Given the description of an element on the screen output the (x, y) to click on. 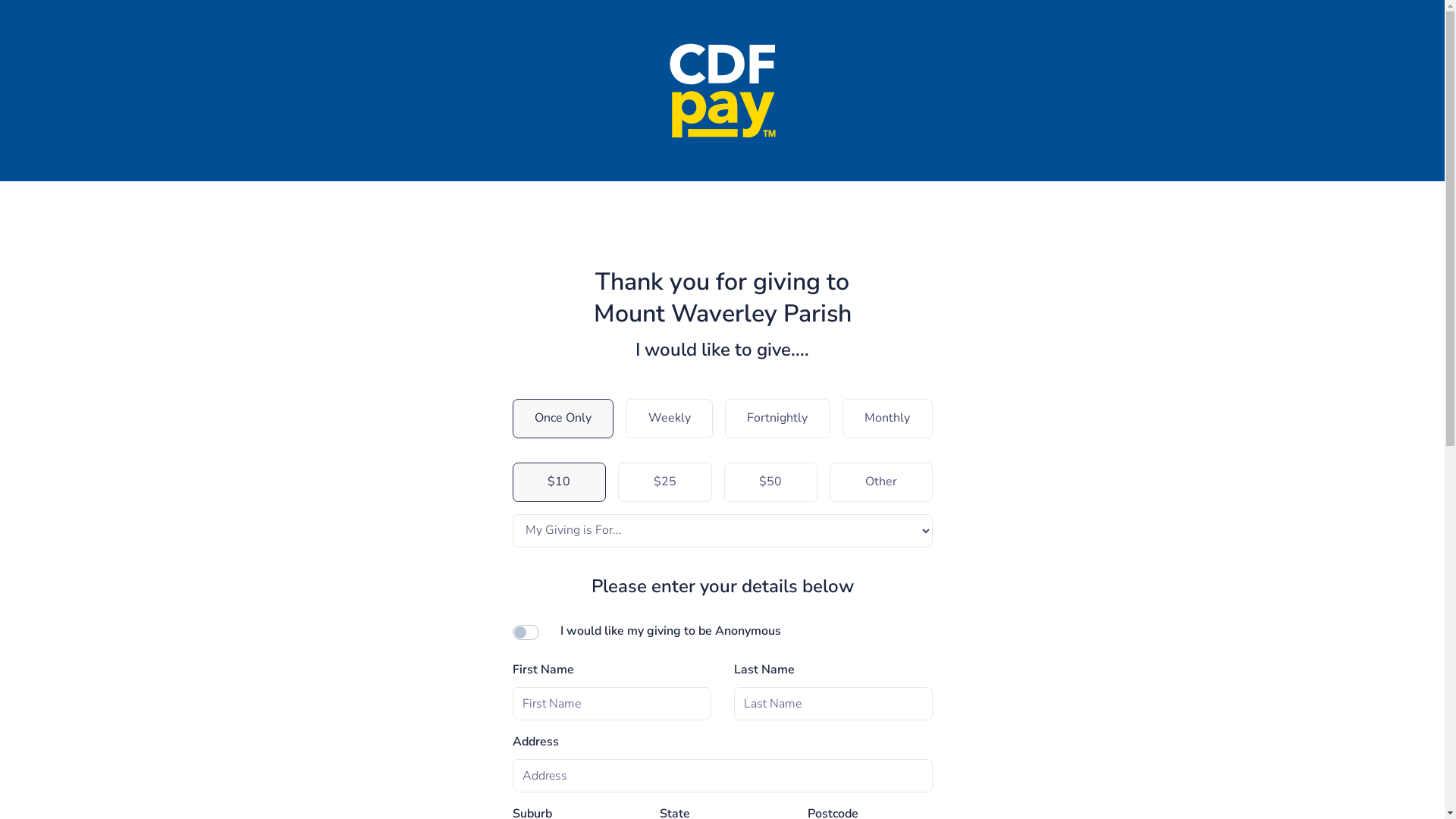
$25 Element type: text (665, 482)
$10 Element type: text (559, 482)
Fortnightly Element type: text (777, 418)
Other Element type: text (880, 482)
Weekly Element type: text (668, 418)
$50 Element type: text (770, 482)
on Element type: text (519, 631)
Monthly Element type: text (887, 418)
Once Only Element type: text (563, 418)
